Given the description of an element on the screen output the (x, y) to click on. 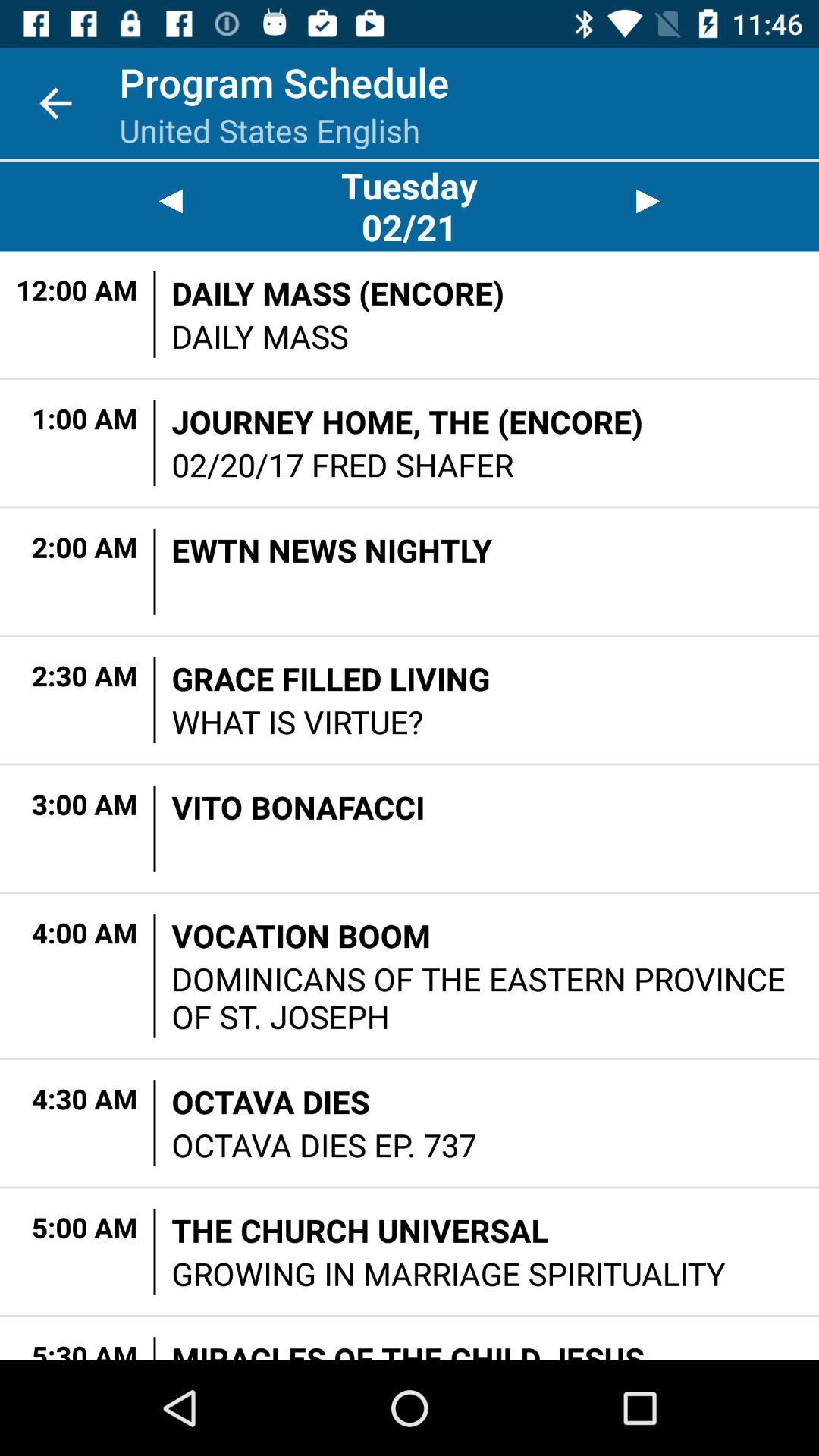
launch item next to the the church universal (154, 1251)
